Given the description of an element on the screen output the (x, y) to click on. 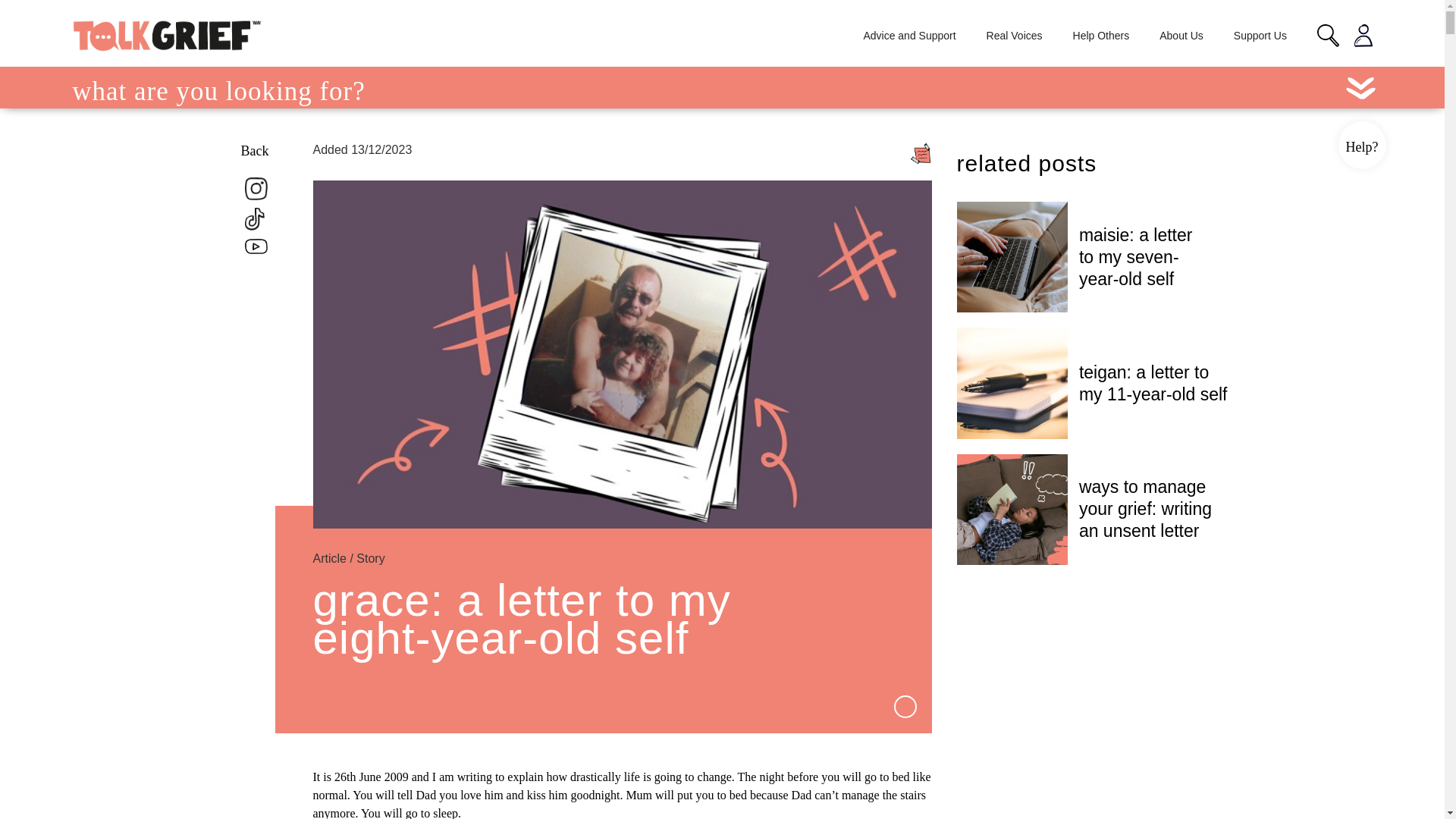
Advice and Support (909, 35)
Real Voices (1014, 35)
Support Us (1259, 35)
About Us (1181, 35)
Help Others (1101, 35)
